Given the description of an element on the screen output the (x, y) to click on. 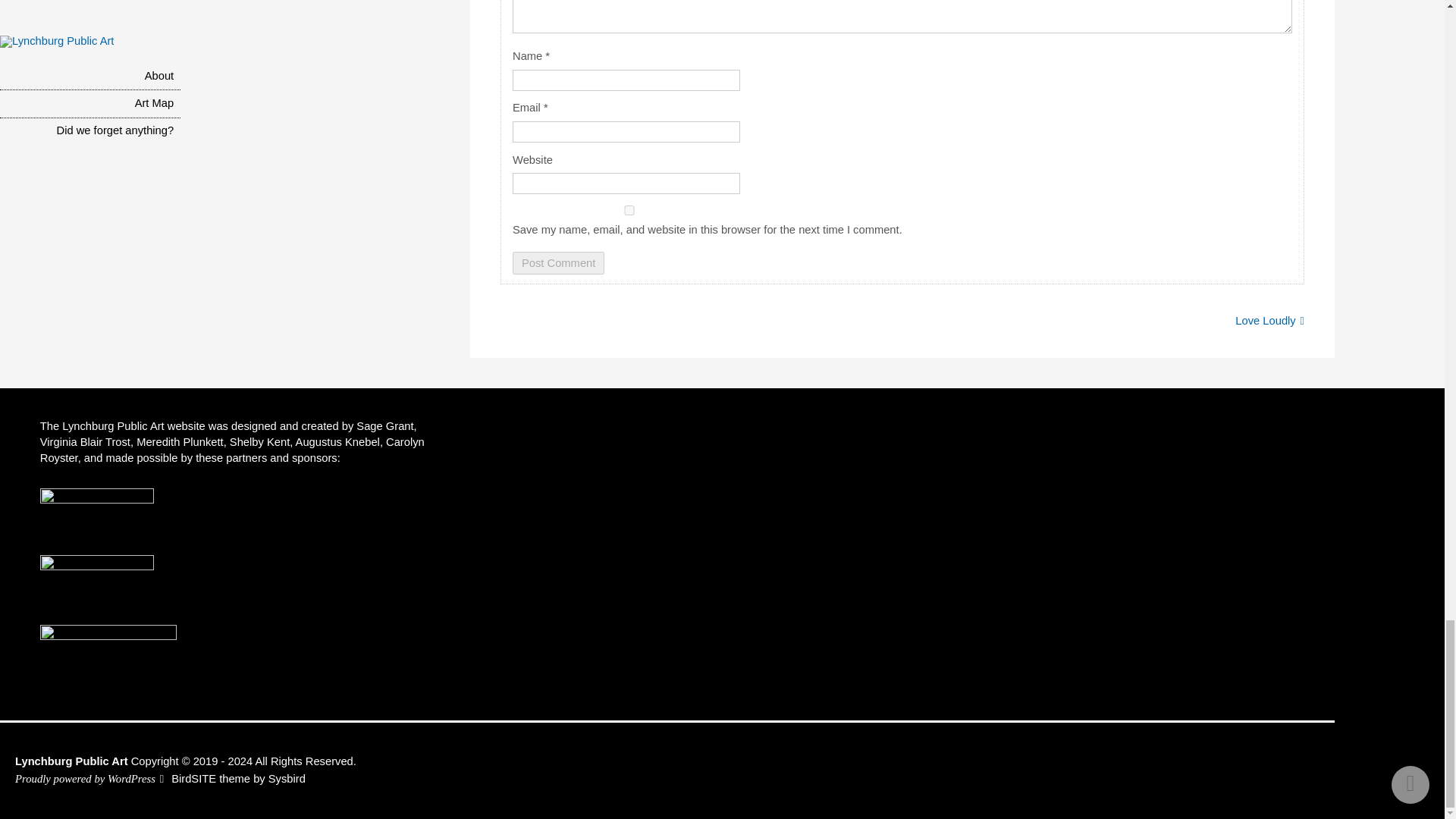
Post Comment (558, 262)
Proudly powered by WordPress (84, 778)
Post Comment (558, 262)
yes (628, 210)
Lynchburg Public Art (71, 761)
Sysbird (286, 778)
Love Loudly (1269, 320)
